Given the description of an element on the screen output the (x, y) to click on. 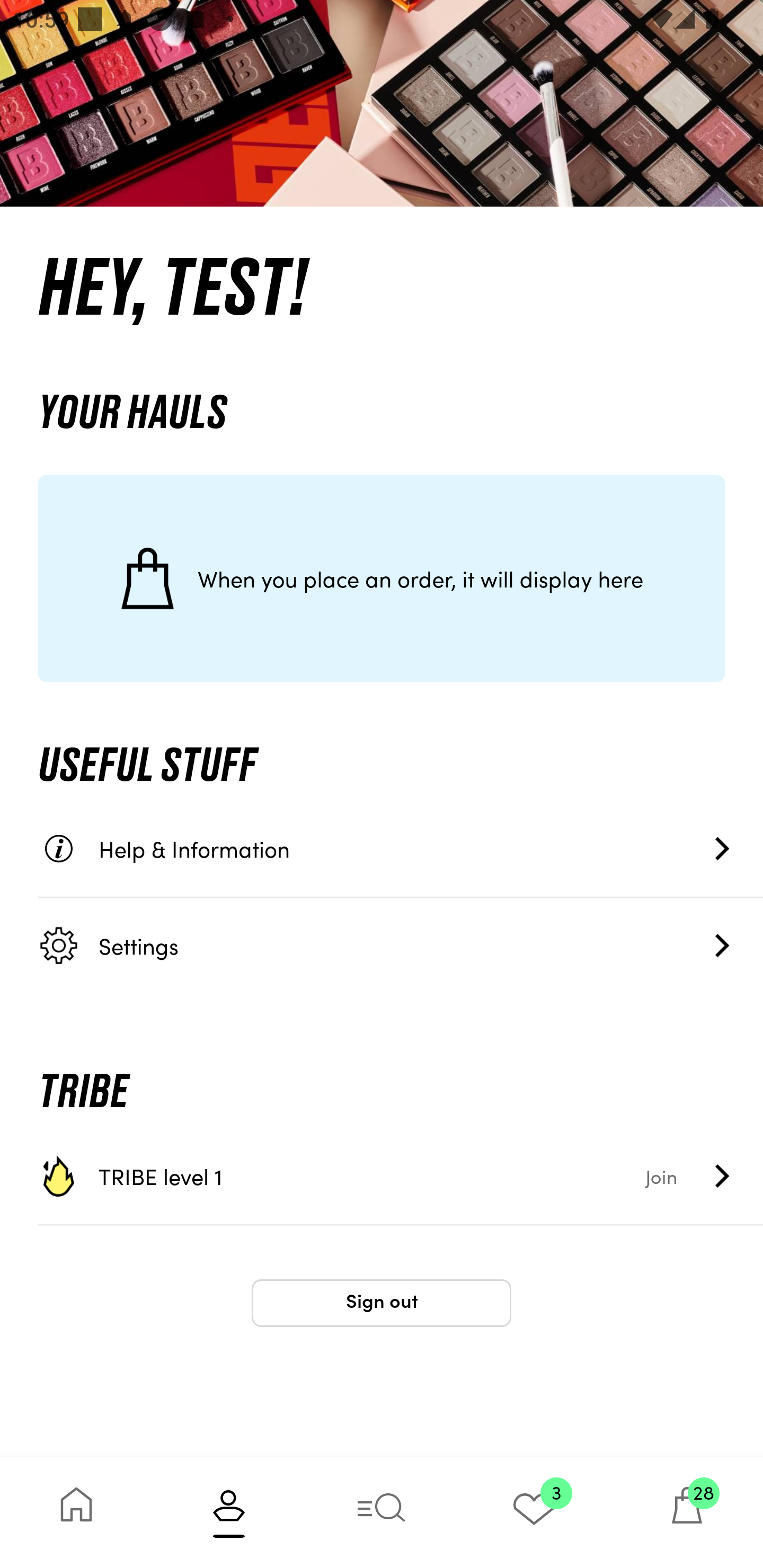
Help & Information (400, 848)
Settings (400, 945)
TRIBE level 1 Join (400, 1175)
Sign out (381, 1302)
3 (533, 1512)
28 (686, 1512)
